Given the description of an element on the screen output the (x, y) to click on. 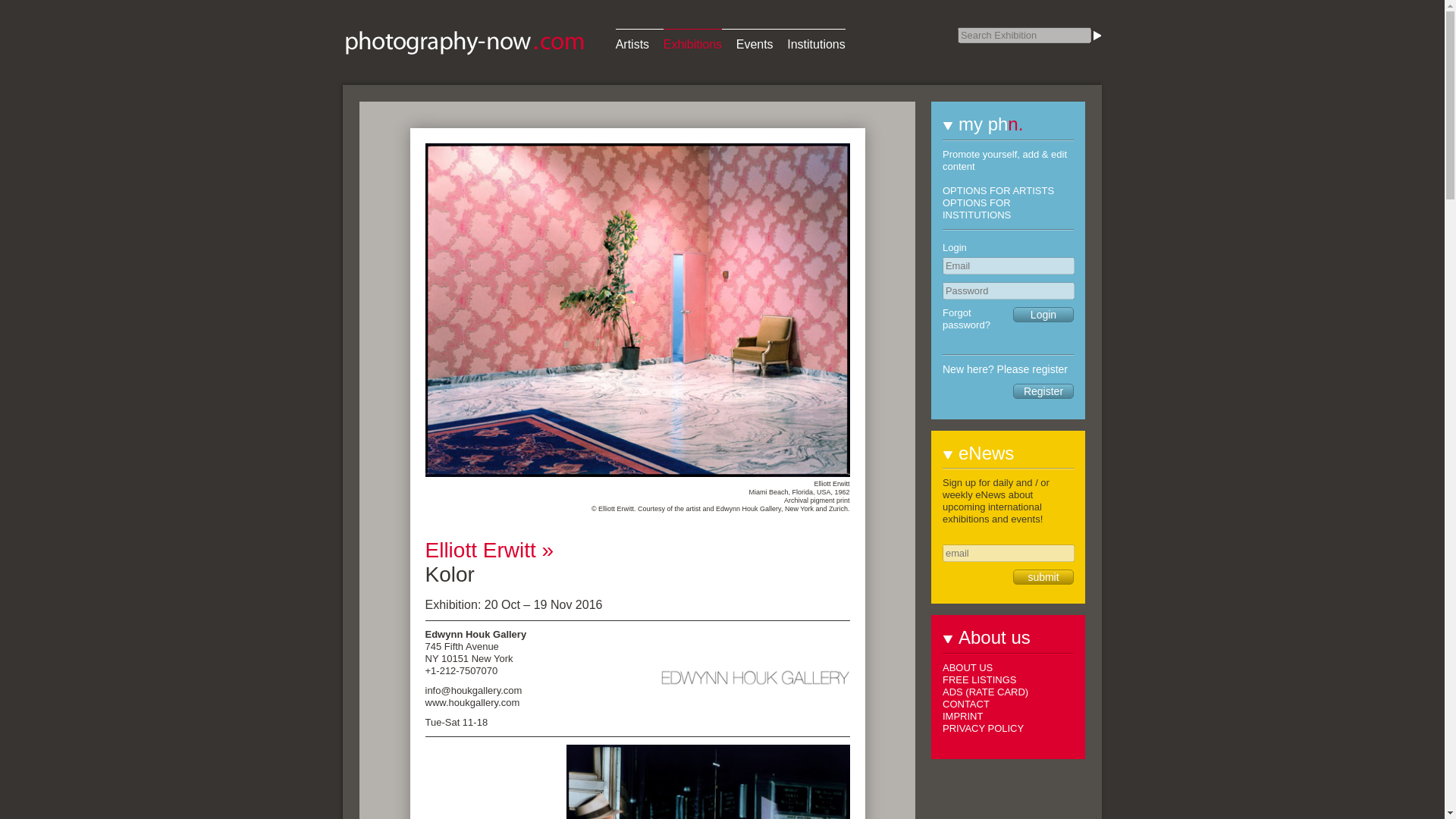
Kolor (707, 781)
photography now (464, 42)
IMPRINT (962, 715)
Artists (632, 40)
Register (1043, 391)
CONTACT (966, 704)
OPTIONS FOR INSTITUTIONS (976, 208)
FREE LISTINGS (979, 679)
Register (1043, 391)
OPTIONS FOR ARTISTS (998, 190)
Forgot password? (966, 318)
Institutions (815, 40)
Edwynn Houk Gallery (753, 677)
Events (754, 40)
Login (1043, 314)
